Given the description of an element on the screen output the (x, y) to click on. 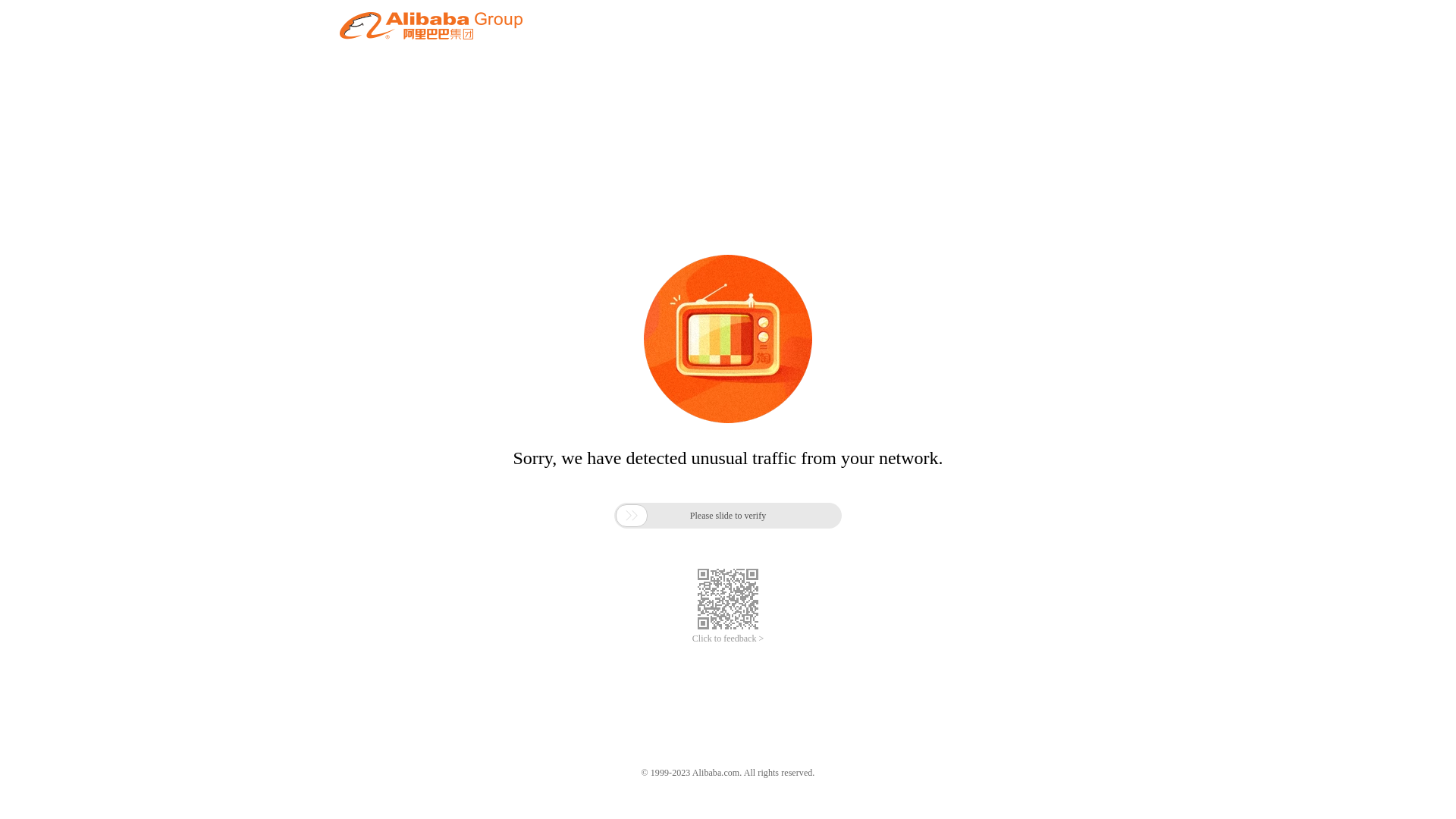
Click to feedback > Element type: text (727, 638)
